Given the description of an element on the screen output the (x, y) to click on. 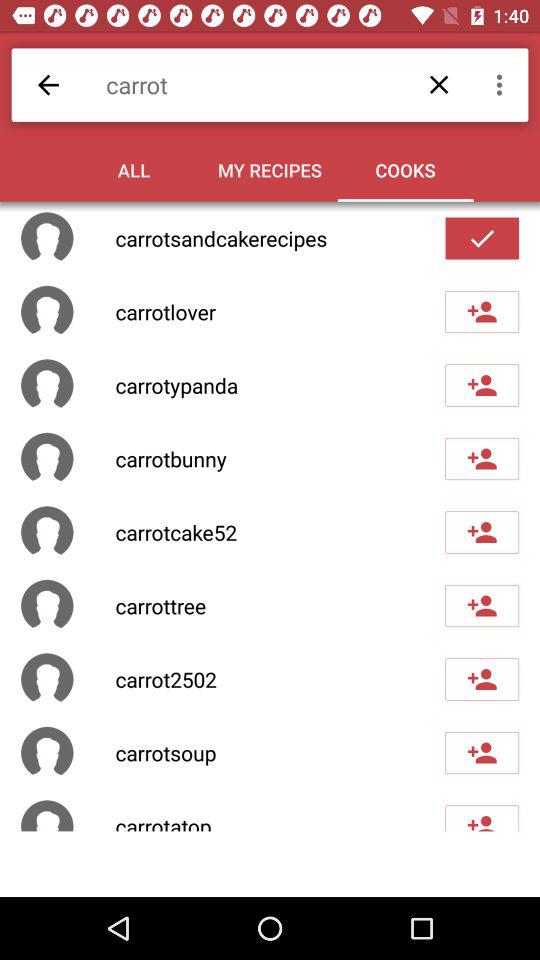
add a cook (482, 532)
